Given the description of an element on the screen output the (x, y) to click on. 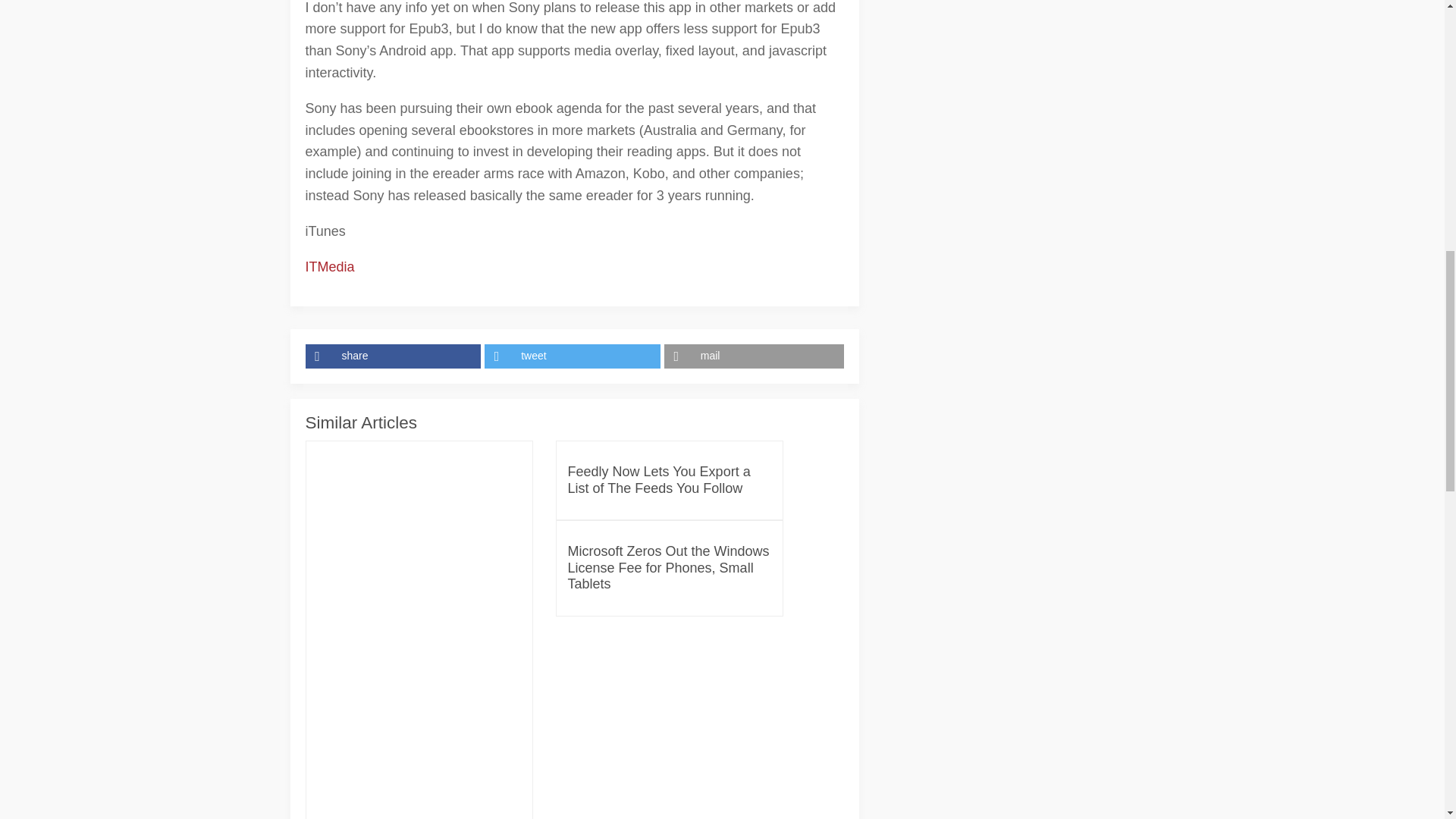
Feedly Now Lets You Export a List of The Feeds You Follow (668, 480)
share (394, 355)
Feedly Now Lets You Export a List of The Feeds You Follow (668, 480)
mail (753, 355)
ITMedia (328, 266)
tweet (573, 355)
